Given the description of an element on the screen output the (x, y) to click on. 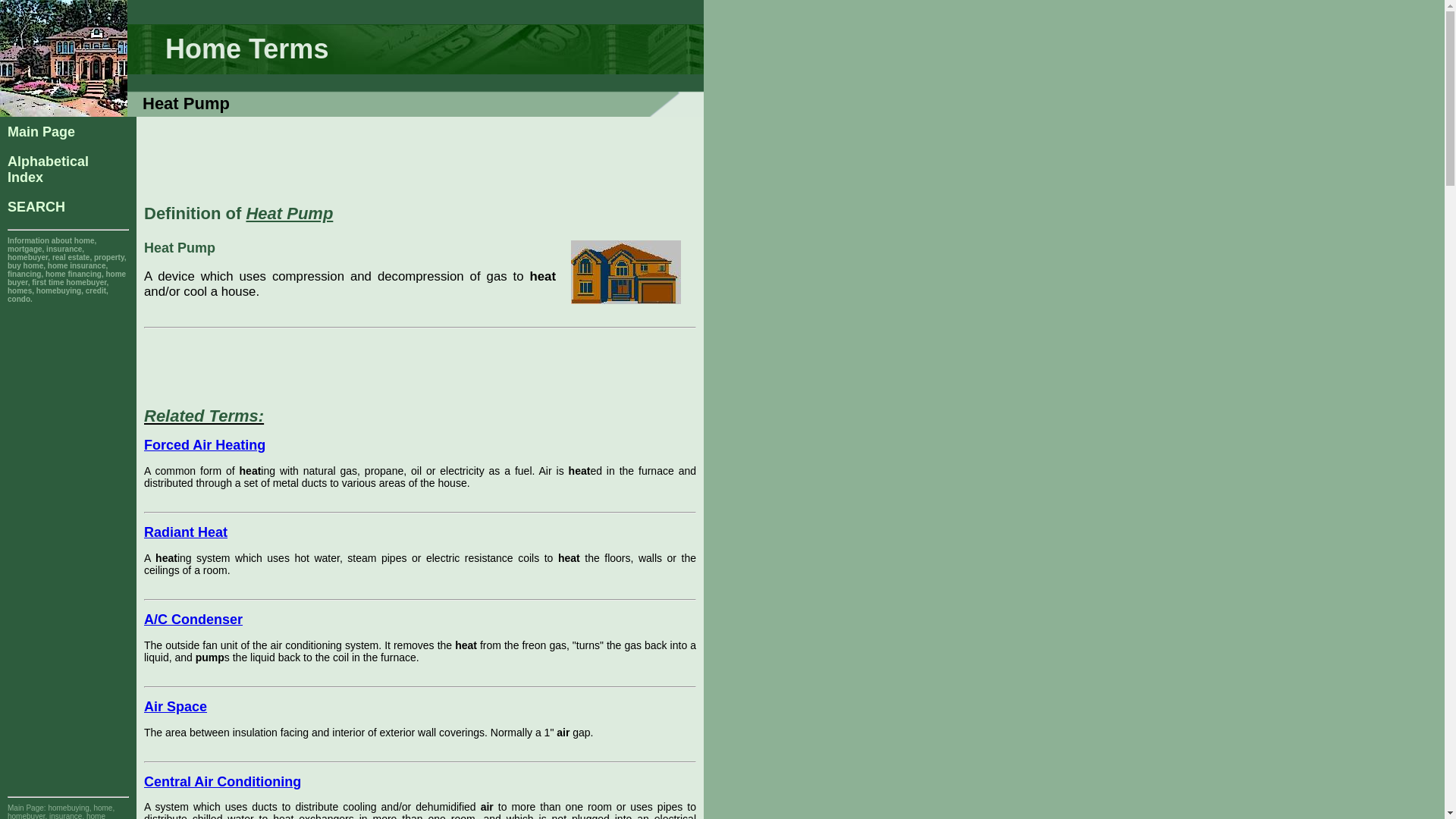
Radiant Heat (185, 531)
Advertisement (321, 366)
Advertisement (419, 158)
Central Air Conditioning (47, 169)
Main Page (222, 780)
SEARCH (41, 131)
Air Space (36, 206)
Forced Air Heating (175, 706)
